Given the description of an element on the screen output the (x, y) to click on. 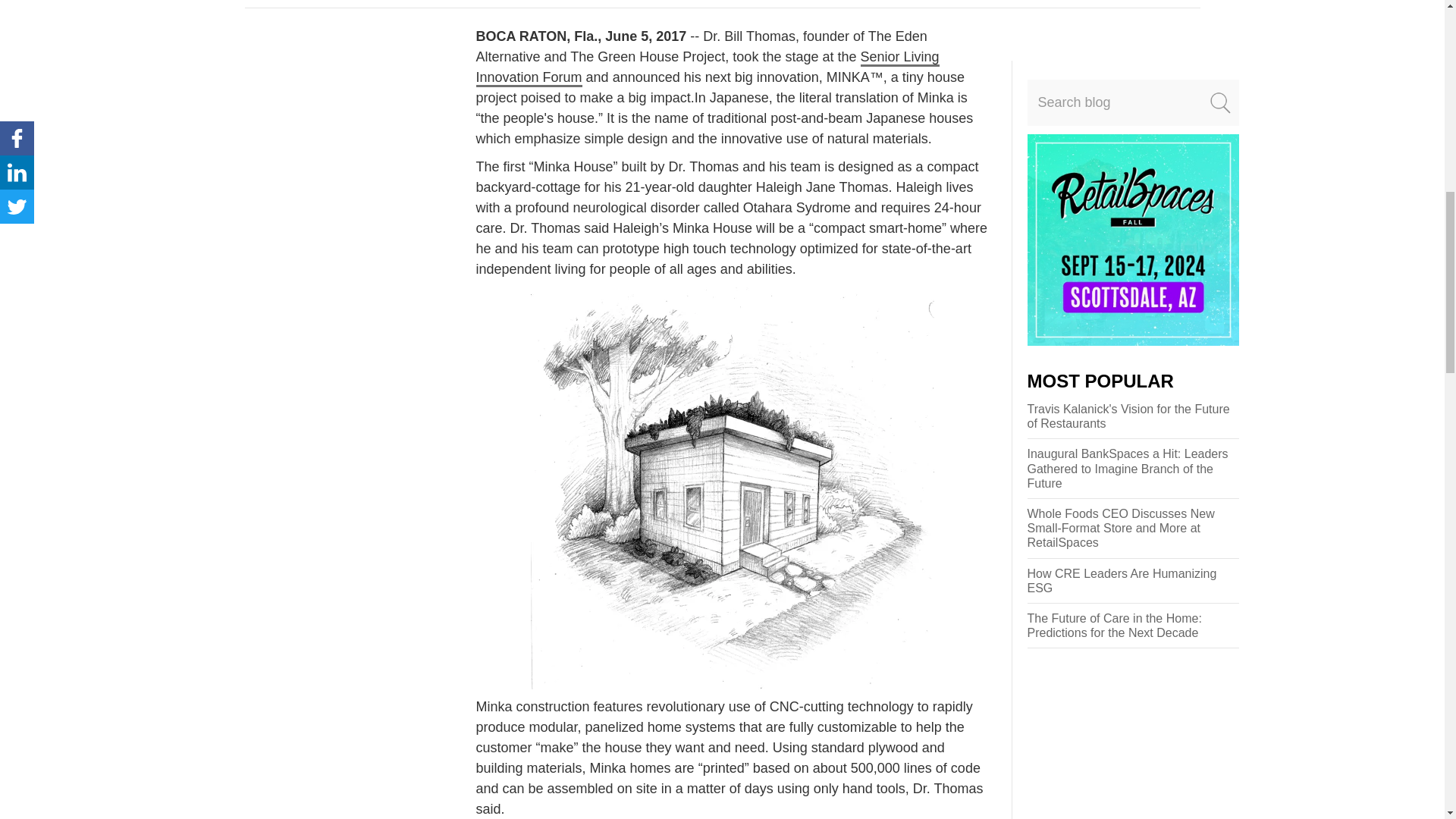
Senior Living Innovation Forum (707, 67)
